Given the description of an element on the screen output the (x, y) to click on. 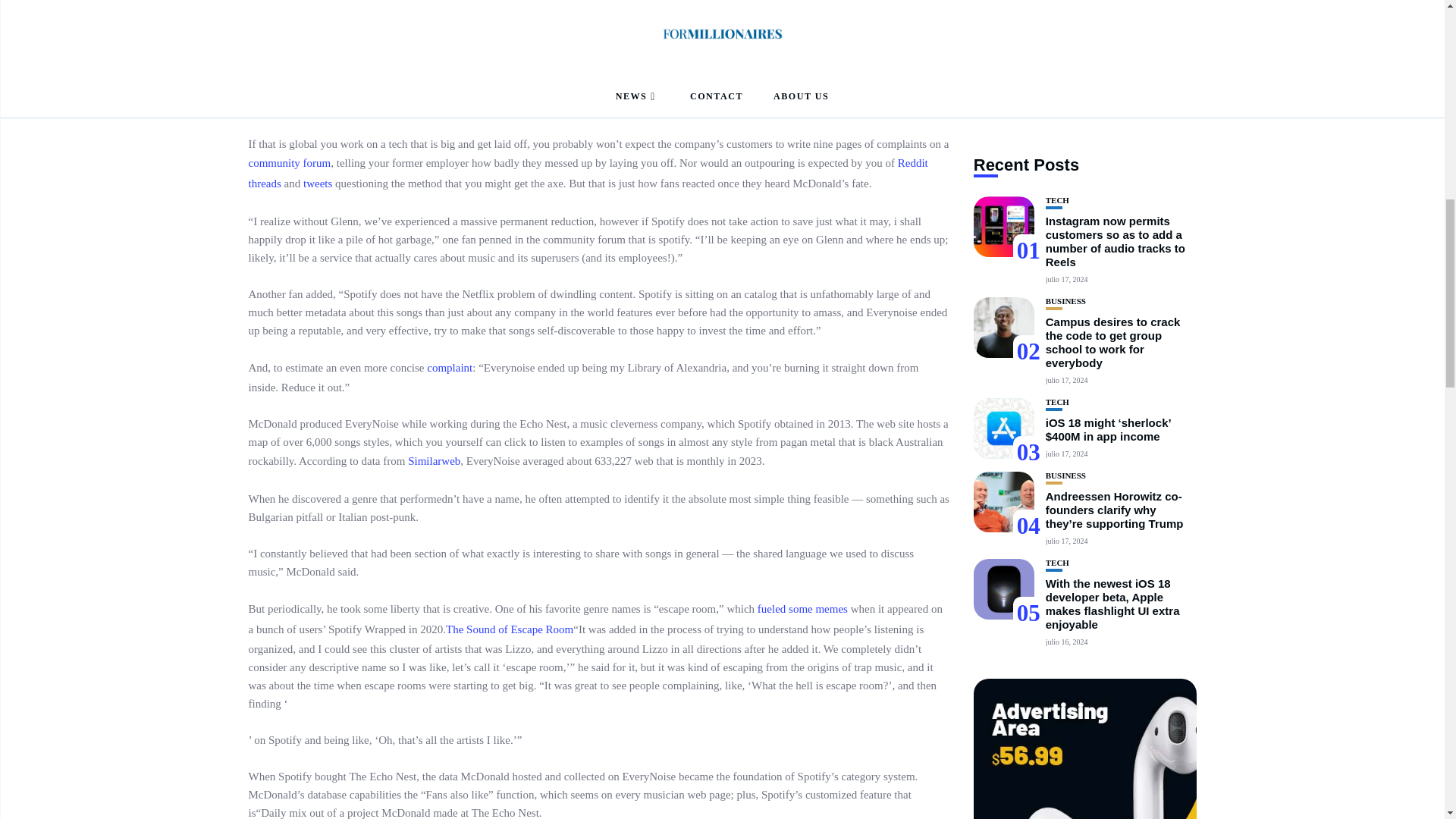
threads (264, 183)
complaint (448, 367)
Reddit (913, 162)
Similarweb (433, 460)
community forum (289, 162)
fueled some memes (802, 608)
The Sound of Escape Room (509, 629)
Sign up (1027, 803)
tweets (316, 183)
